Given the description of an element on the screen output the (x, y) to click on. 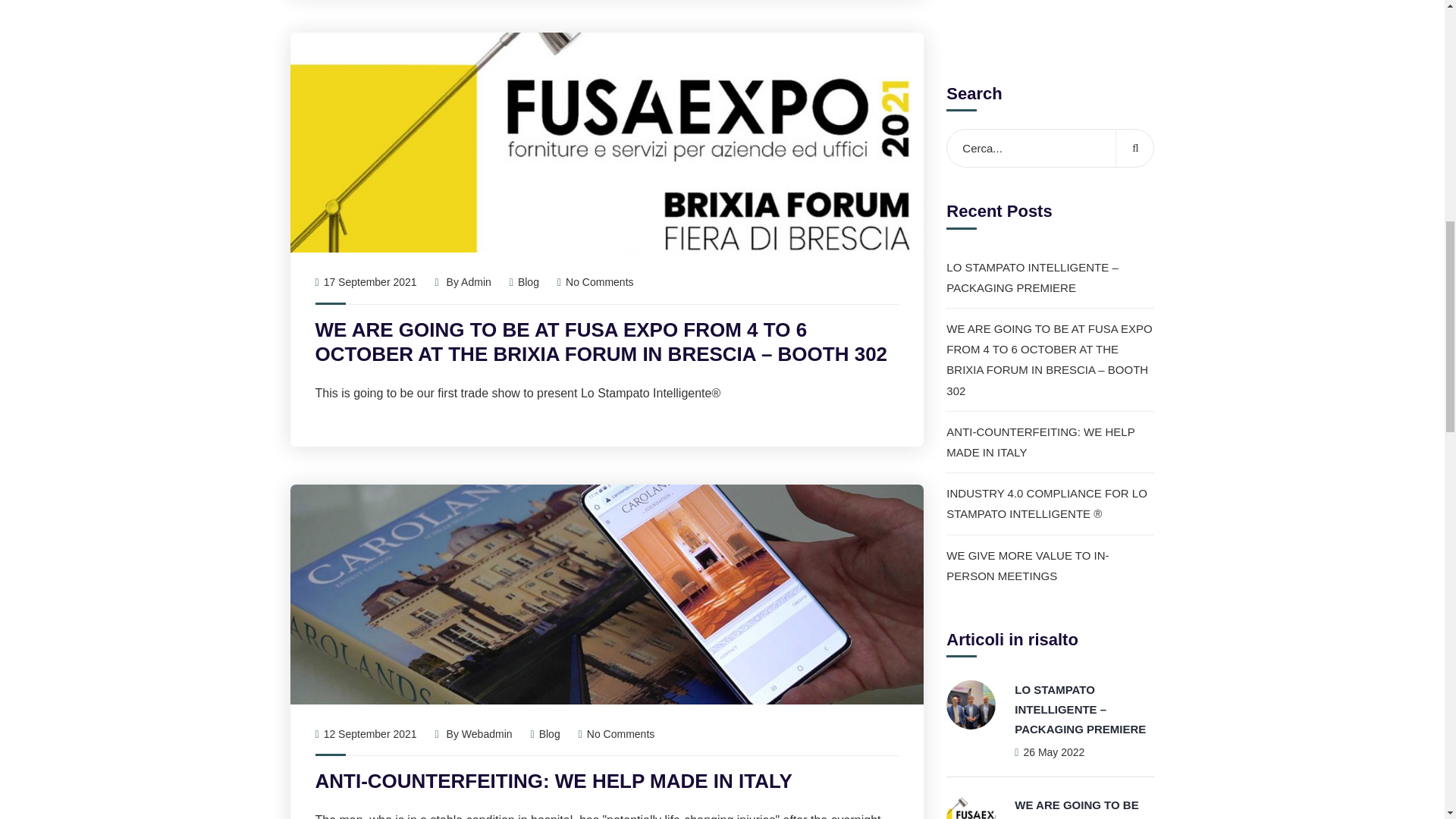
Webadmin (486, 734)
Blog (549, 734)
Posts by admin (476, 282)
ANTI-COUNTERFEITING: WE HELP MADE IN ITALY (1082, 448)
Admin (476, 282)
Blog (528, 282)
No Comments (595, 282)
Posts by webadmin (486, 734)
No Comments (616, 734)
ANTI-COUNTERFEITING: WE HELP MADE IN ITALY (553, 780)
